Given the description of an element on the screen output the (x, y) to click on. 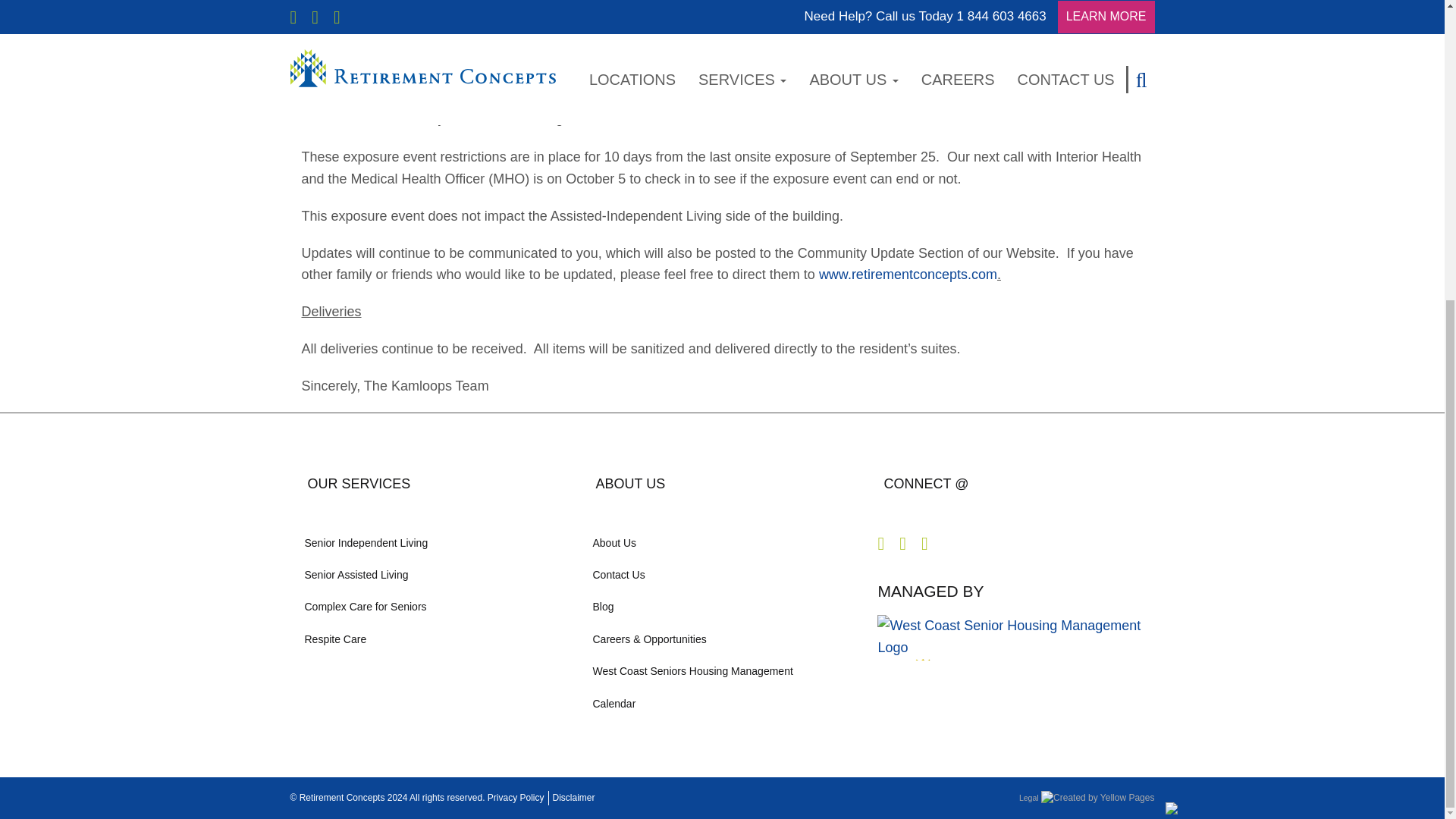
Legal (1029, 797)
Respite Care (434, 639)
Complex Care for Seniors (434, 606)
Senior Assisted Living (434, 574)
Blog (721, 606)
West Coast Seniors Housing Management (721, 671)
www.retirementconcepts.com (907, 273)
About Us (721, 542)
Calendar (721, 703)
Disclaimer (572, 797)
